Given the description of an element on the screen output the (x, y) to click on. 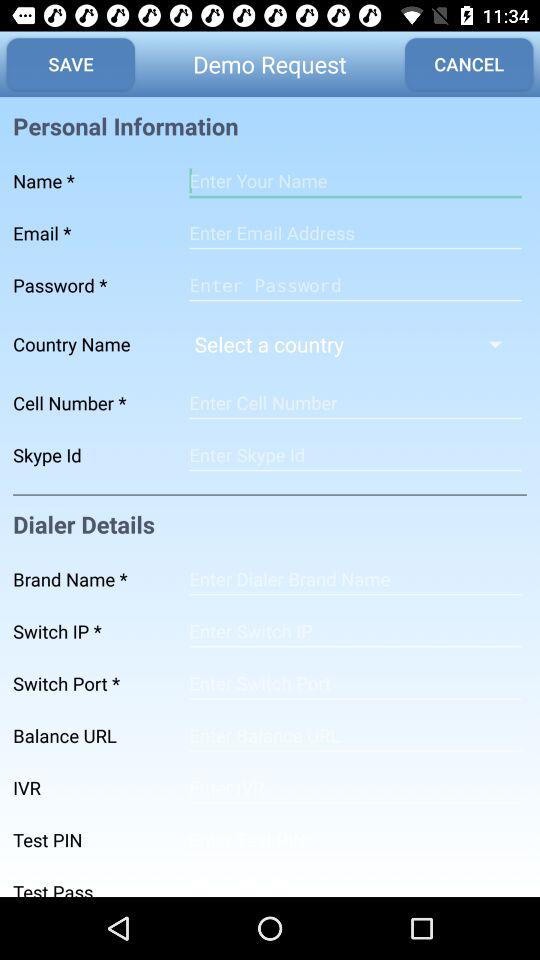
password page (355, 285)
